Given the description of an element on the screen output the (x, y) to click on. 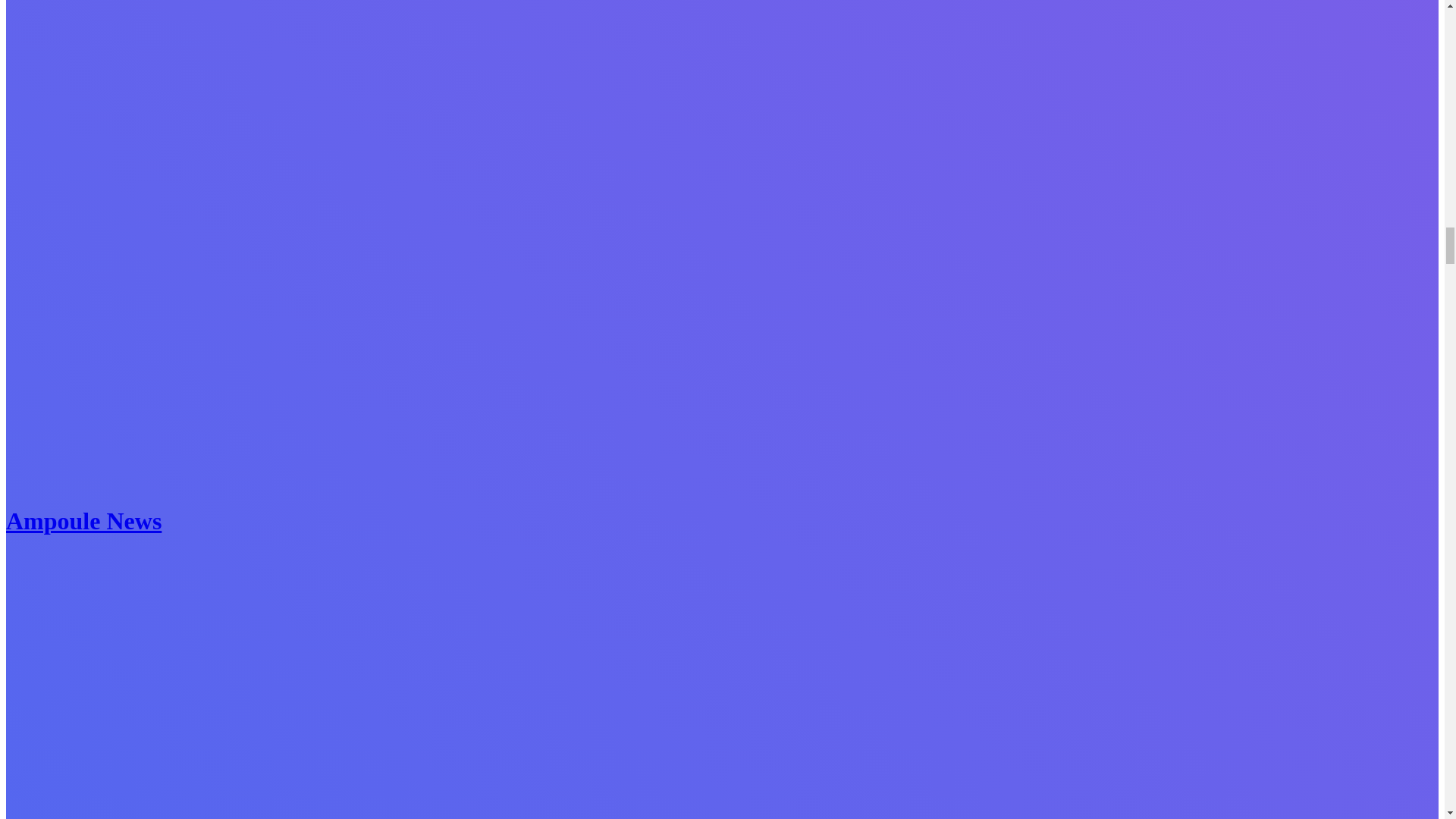
Ampoule News (83, 520)
